Given the description of an element on the screen output the (x, y) to click on. 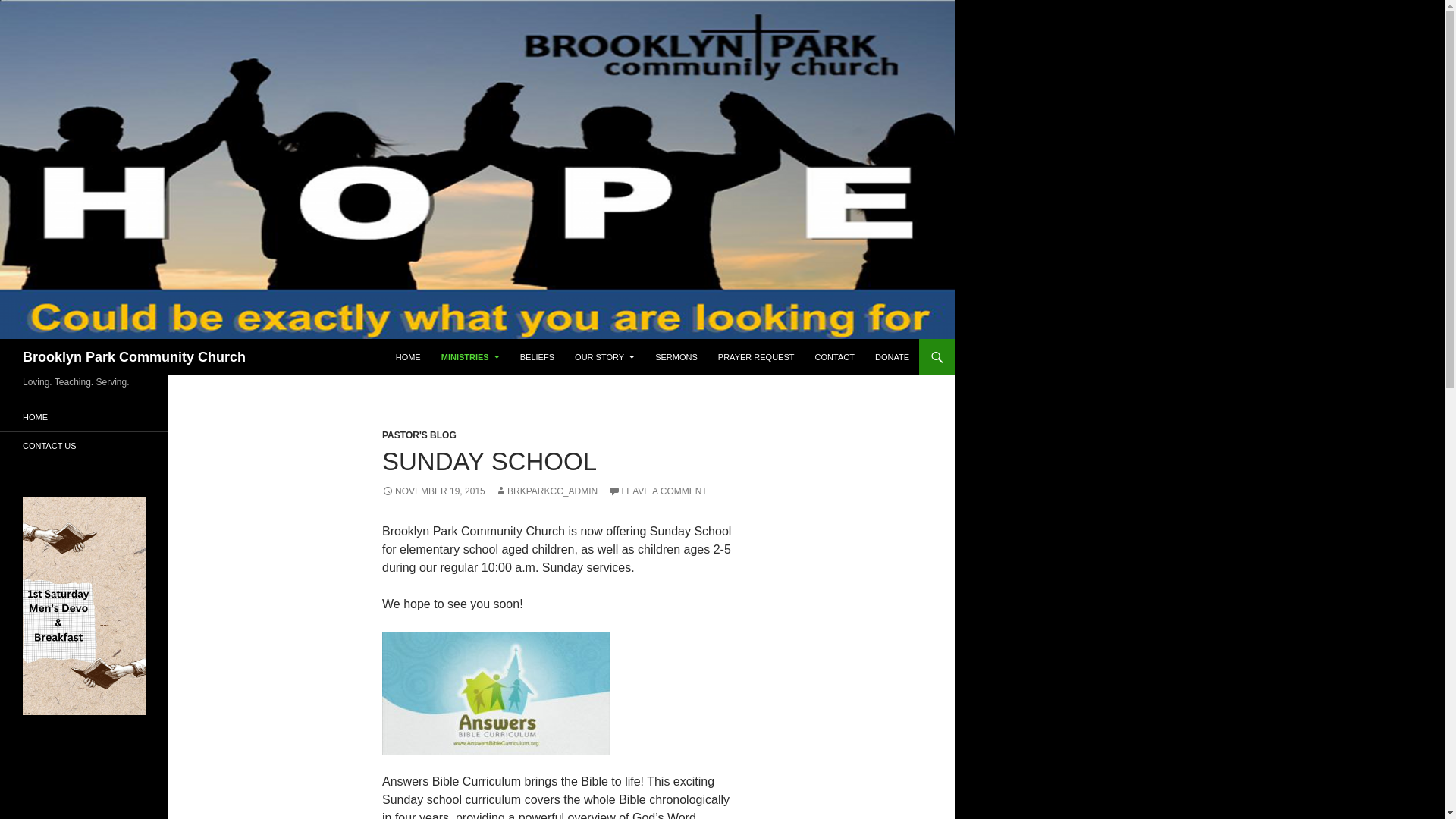
PRAYER REQUEST (756, 357)
SERMONS (676, 357)
HOME (408, 357)
DONATE (892, 357)
HOME (84, 417)
Brooklyn Park Community Church (134, 357)
CONTACT (834, 357)
OUR STORY (604, 357)
